Given the description of an element on the screen output the (x, y) to click on. 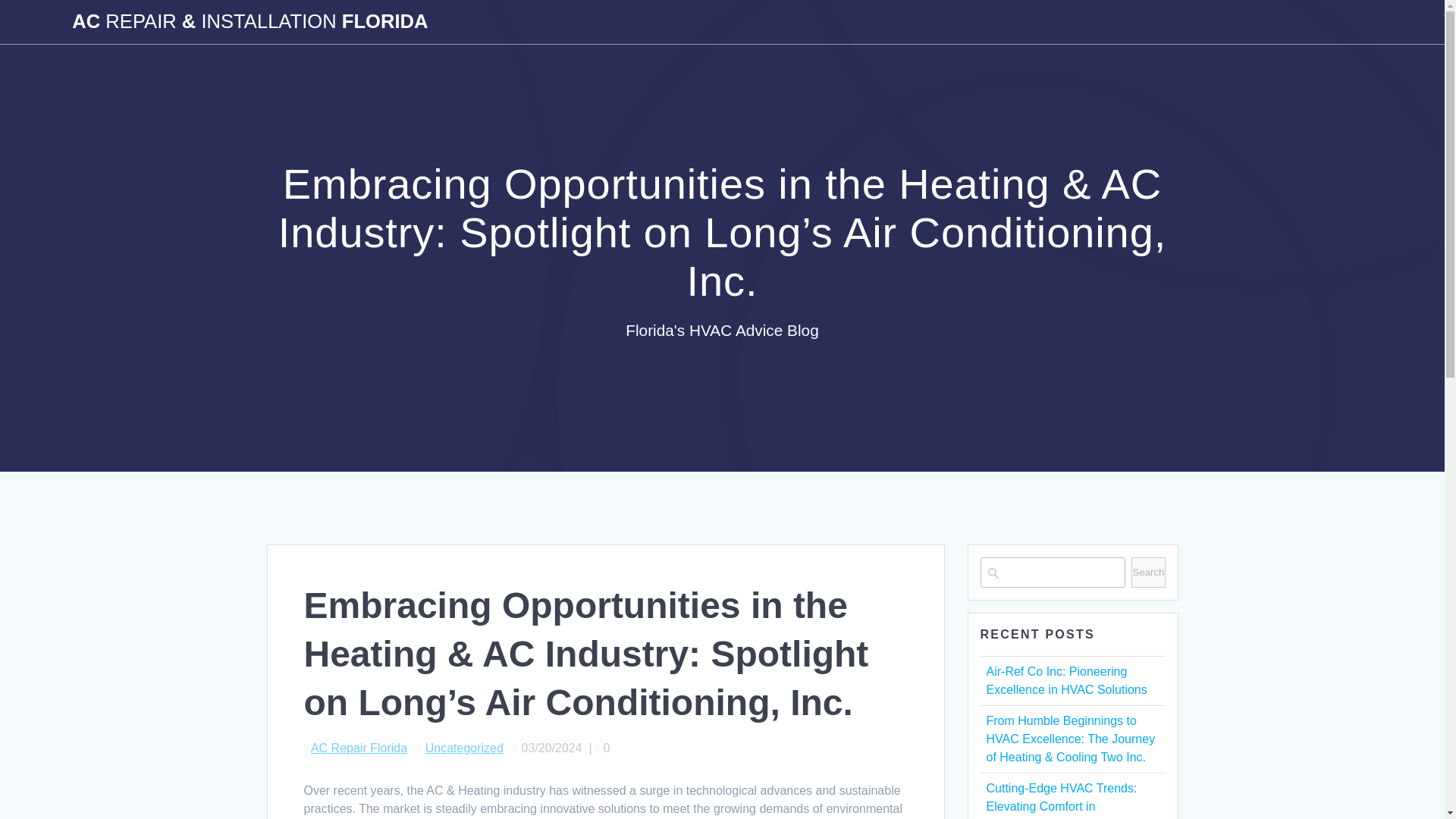
Uncategorized (464, 748)
AC Repair Florida (359, 748)
Air-Ref Co Inc: Pioneering Excellence in HVAC Solutions (1066, 680)
Posts by AC Repair Florida (359, 748)
Cutting-Edge HVAC Trends: Elevating Comfort in Chicagoland (1061, 800)
Search (1147, 572)
